Given the description of an element on the screen output the (x, y) to click on. 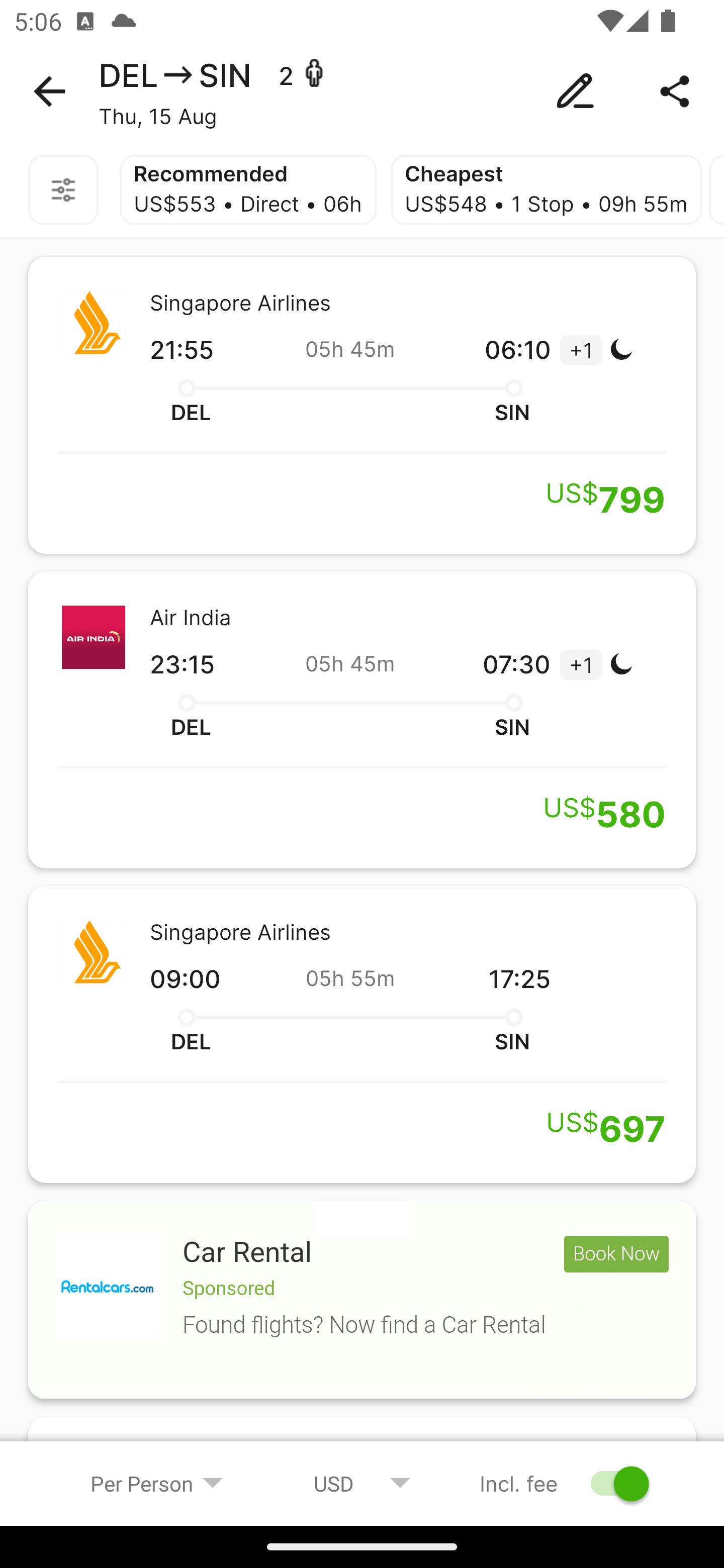
DEL SIN   2 - Thu, 15 Aug (361, 91)
Recommended  US$553 • Direct • 06h (247, 190)
Cheapest US$548 • 1 Stop • 09h 55m (545, 190)
Singapore Airlines 21:55 05h 45m 06:10 DEL SIN +1 (361, 405)
Air India 23:15 05h 45m 07:30 DEL SIN +1 (361, 719)
Singapore Airlines 09:00 05h 55m 17:25 DEL SIN (361, 1033)
Per Person (156, 1482)
USD (361, 1482)
